Given the description of an element on the screen output the (x, y) to click on. 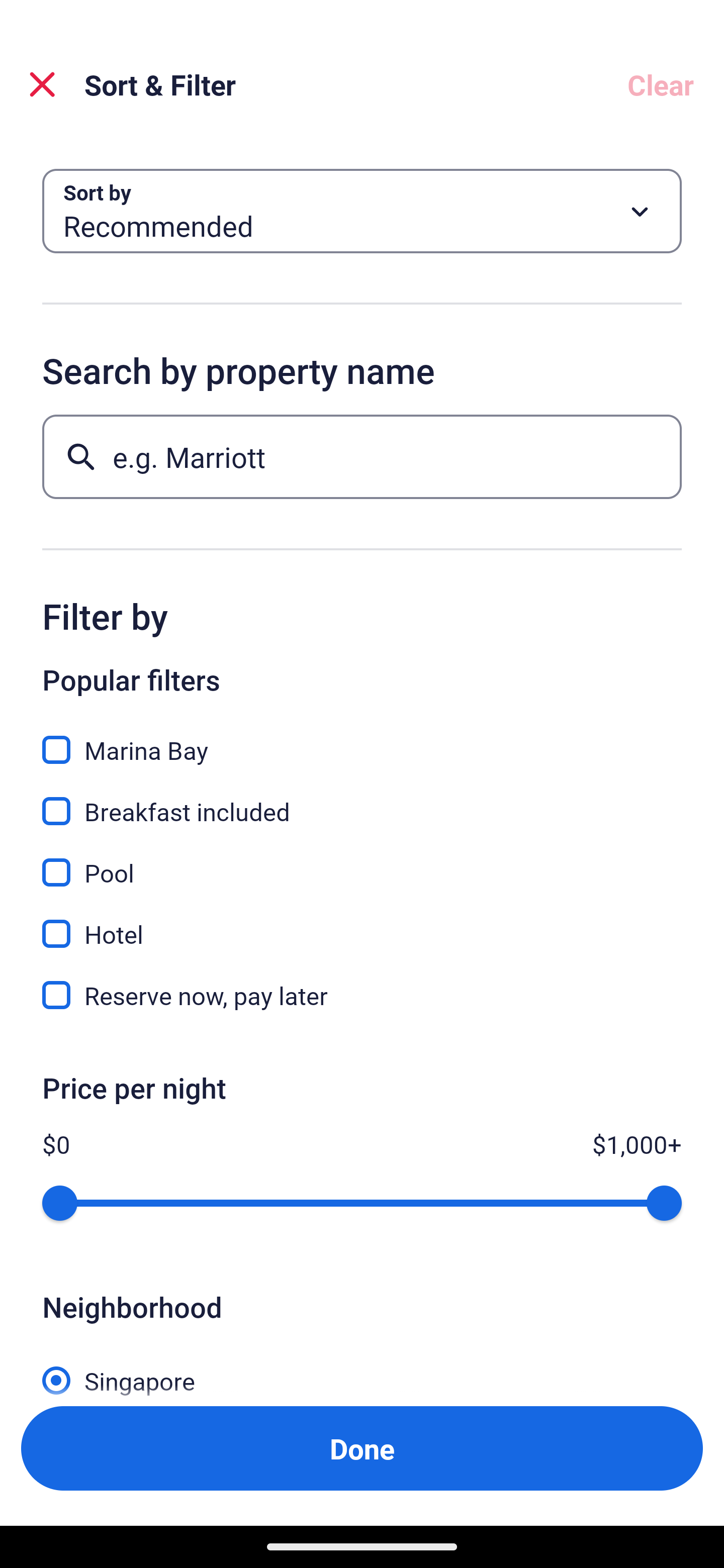
Close Sort and Filter (42, 84)
Clear (660, 84)
Sort by Button Recommended (361, 211)
e.g. Marriott Button (361, 455)
Marina Bay, Marina Bay (361, 738)
Breakfast included, Breakfast included (361, 800)
Pool, Pool (361, 861)
Hotel, Hotel (361, 922)
Reserve now, pay later, Reserve now, pay later (361, 995)
Apply and close Sort and Filter Done (361, 1448)
